Given the description of an element on the screen output the (x, y) to click on. 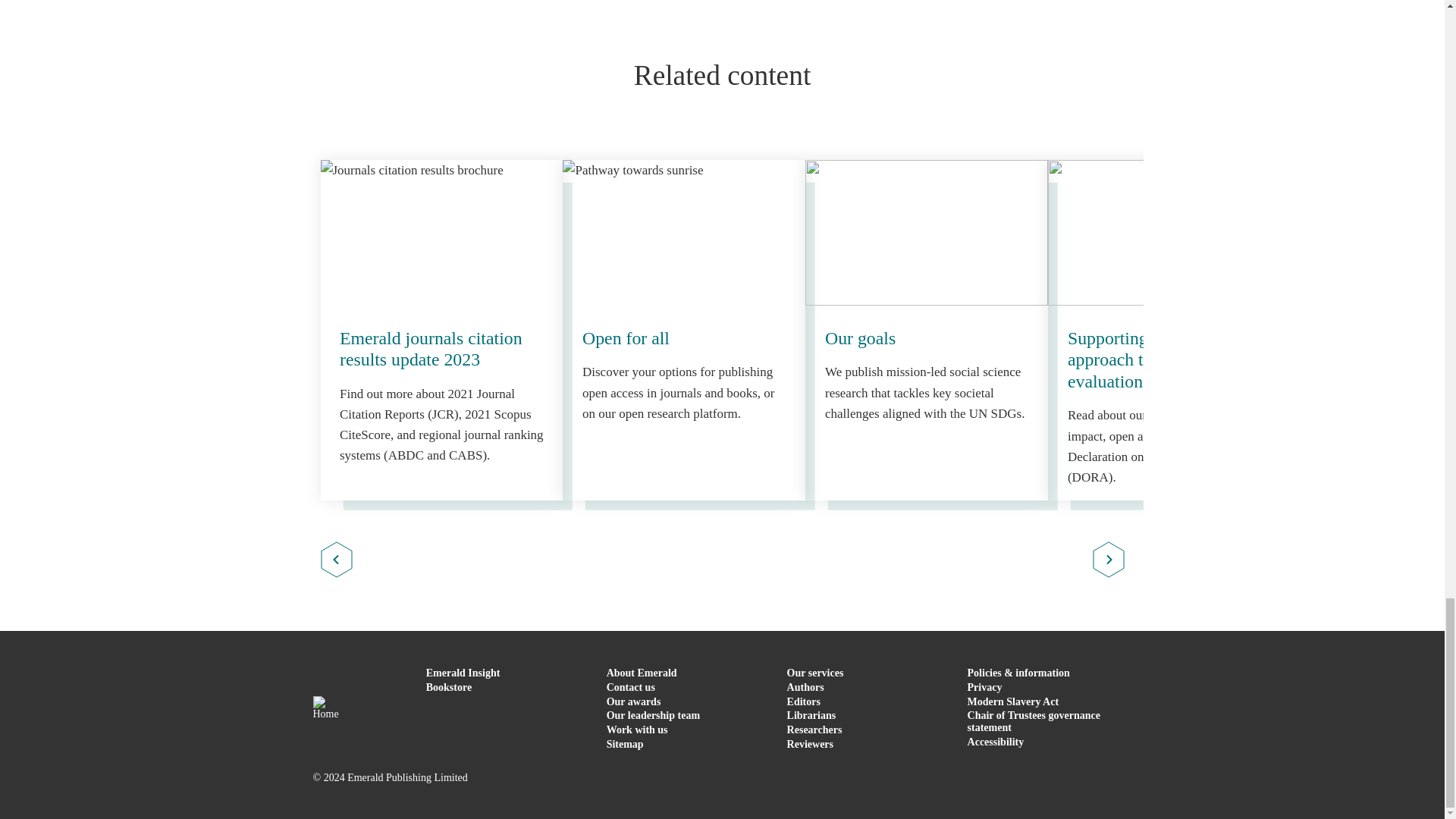
Contact Emerald (631, 686)
Download PDF statement (1034, 721)
Policies (1019, 672)
Editors (804, 701)
Privacy notice (985, 686)
Modern Slavery Act (1013, 701)
Reviewers (809, 744)
Authors (805, 686)
Researchers (815, 729)
About us page (642, 672)
